Given the description of an element on the screen output the (x, y) to click on. 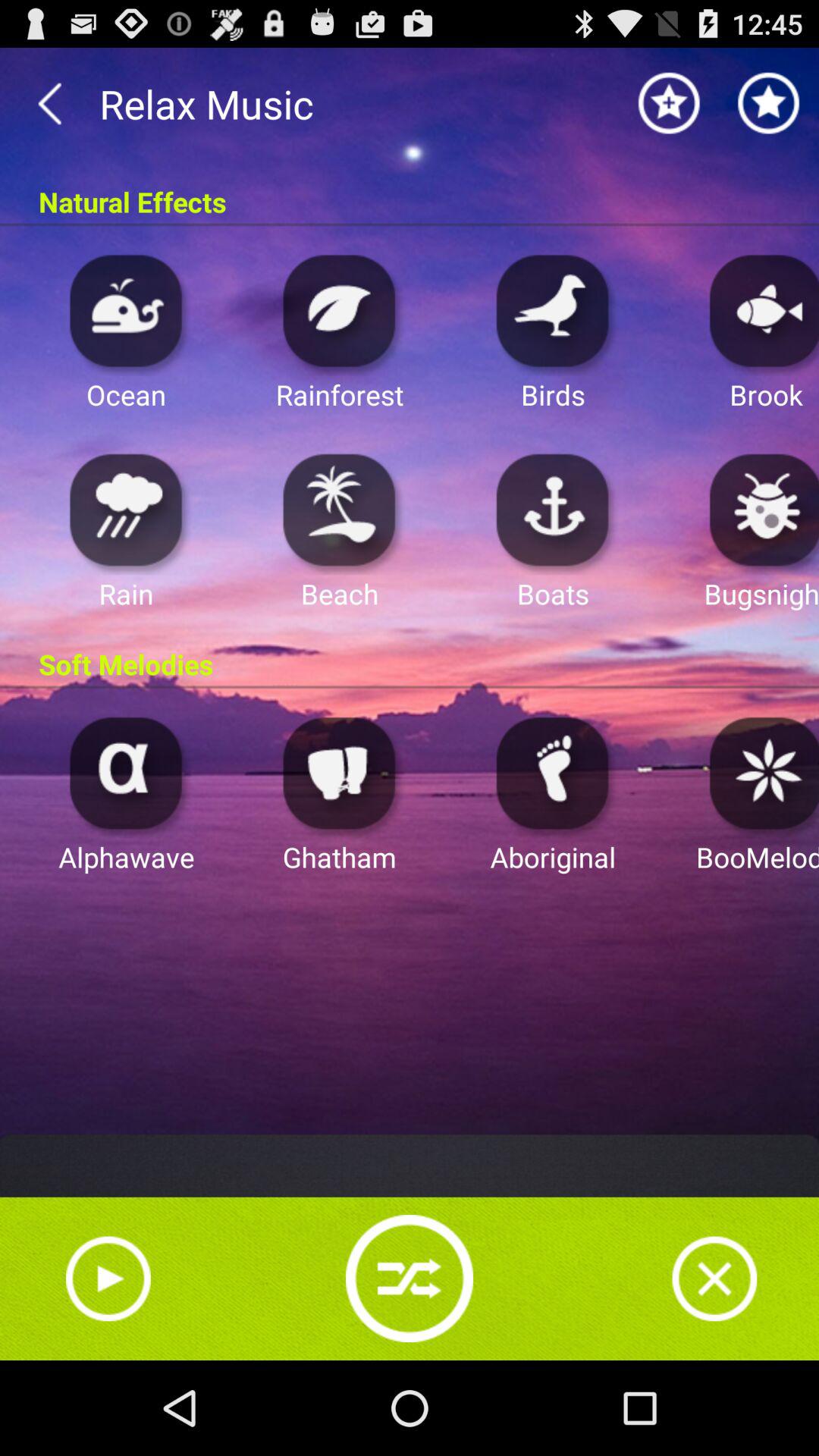
app in the upper right (759, 309)
